Given the description of an element on the screen output the (x, y) to click on. 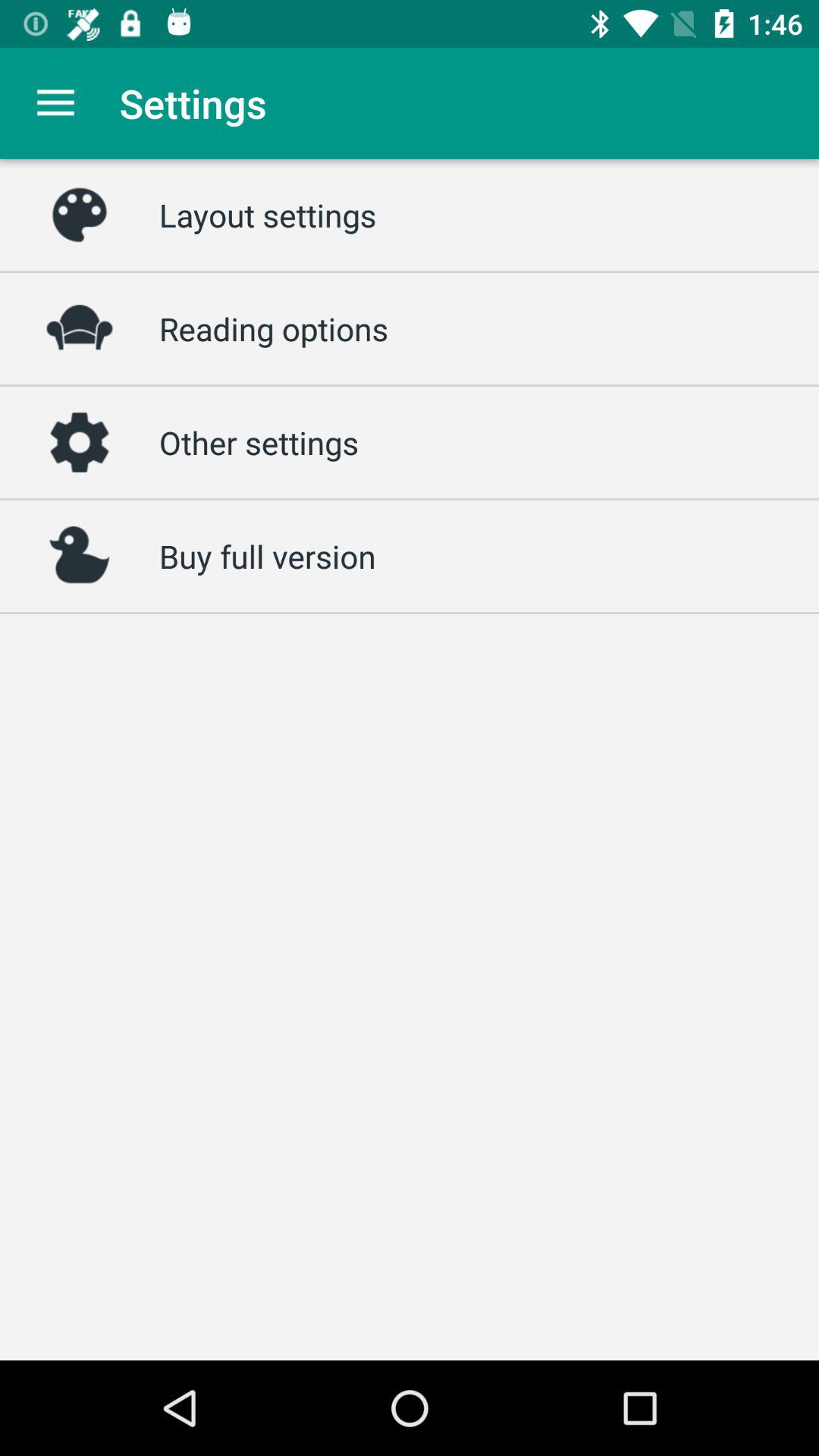
jump to the buy full version icon (267, 555)
